Given the description of an element on the screen output the (x, y) to click on. 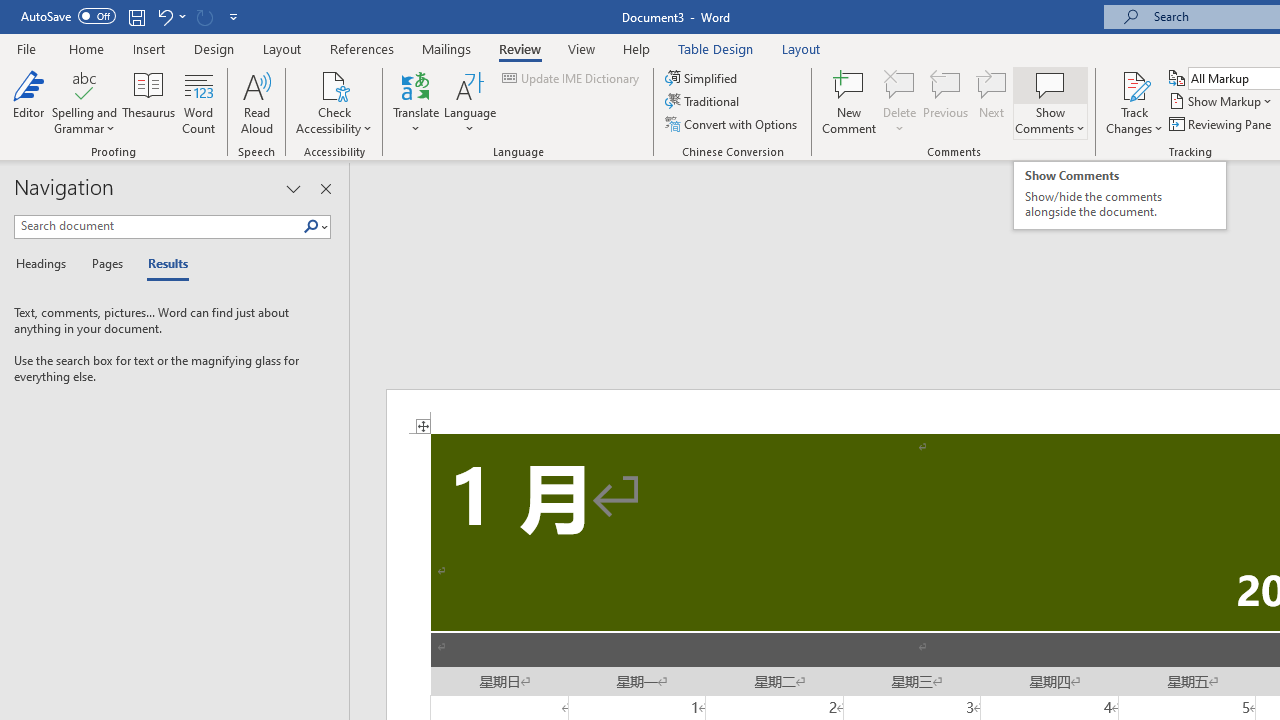
Show Comments (1050, 102)
Check Accessibility (334, 84)
Show Comments (1050, 84)
Spelling and Grammar (84, 102)
